Given the description of an element on the screen output the (x, y) to click on. 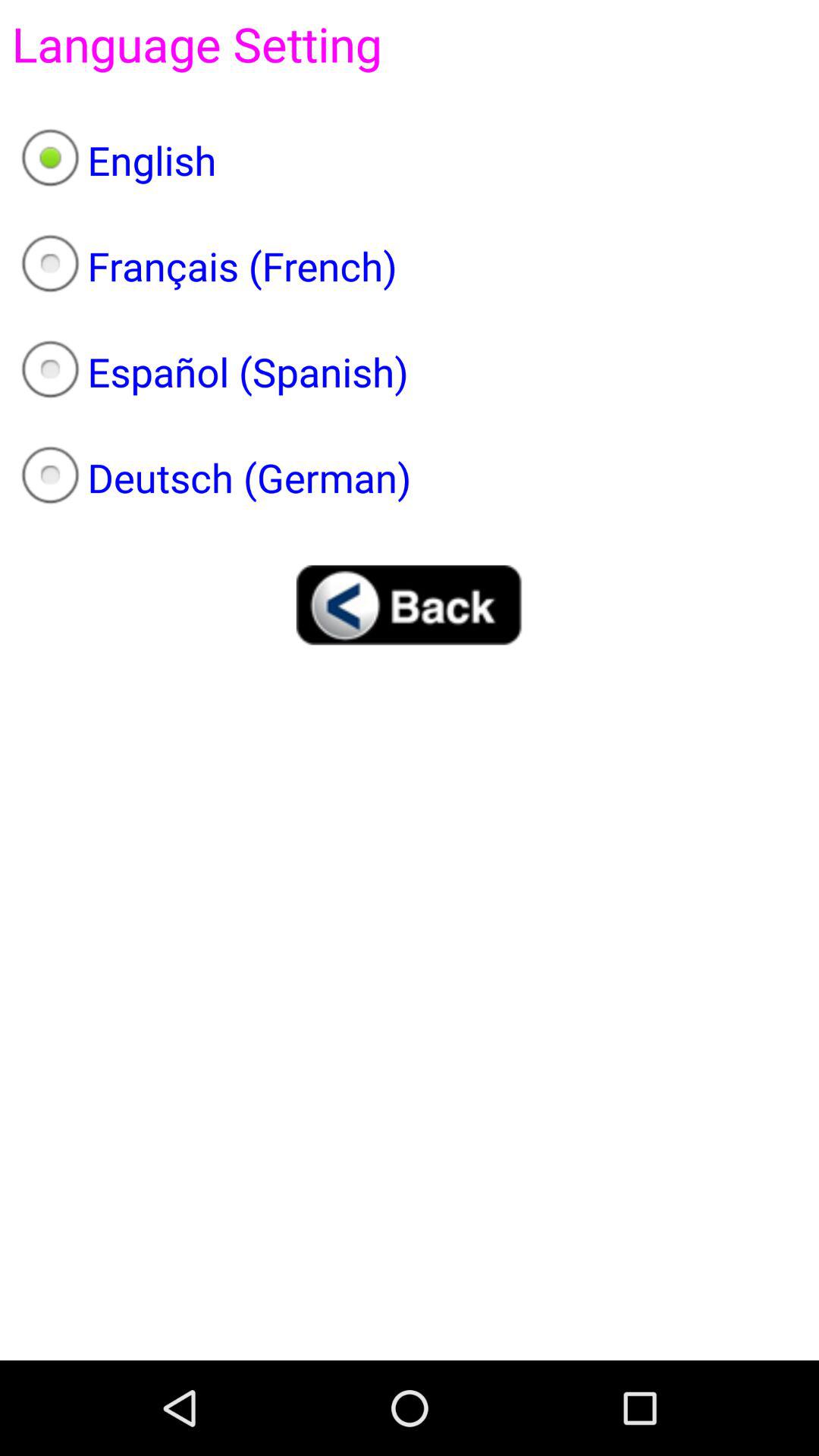
jump until deutsch (german) icon (409, 477)
